Given the description of an element on the screen output the (x, y) to click on. 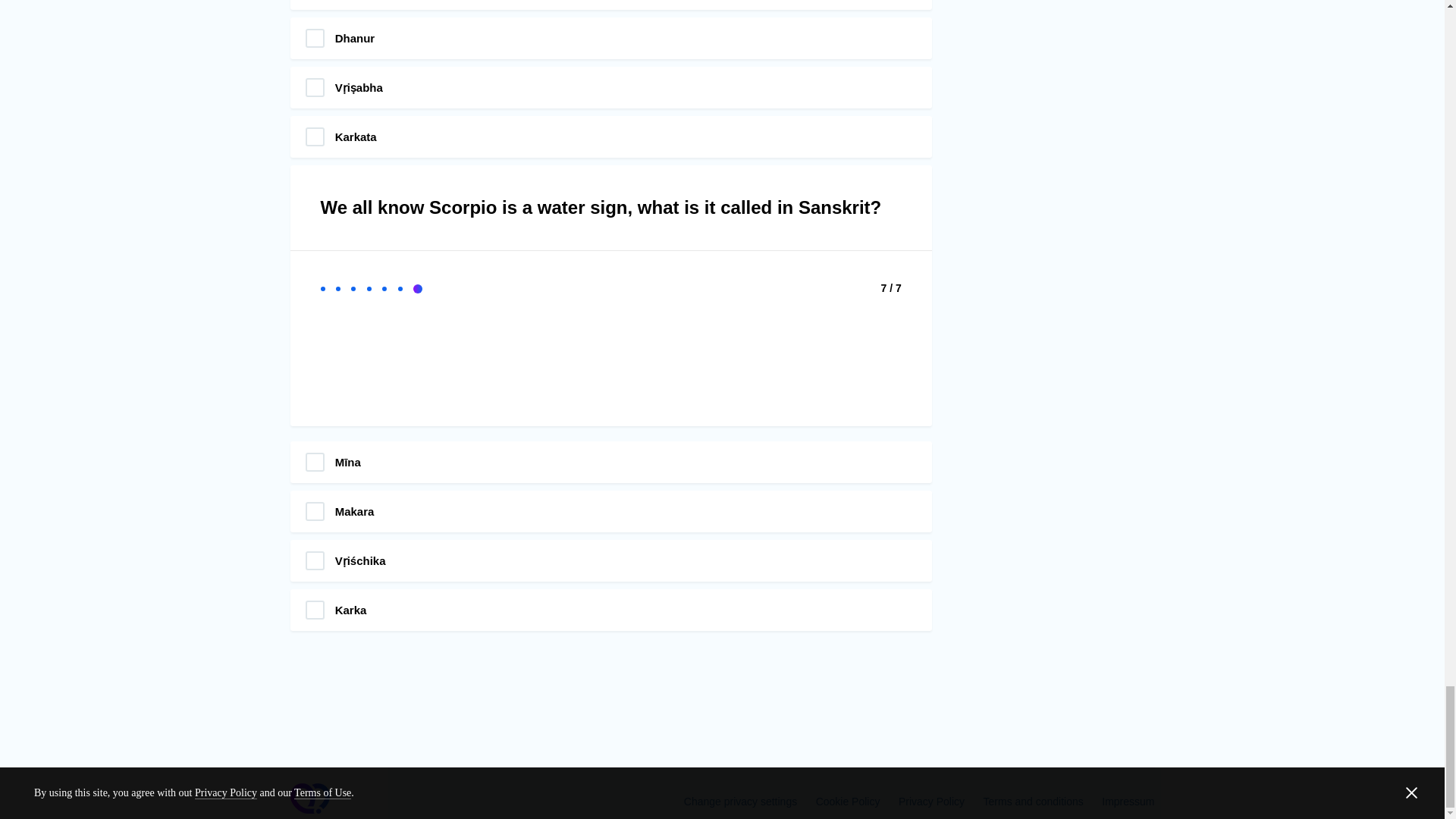
Cookie Policy (847, 801)
Privacy Policy (930, 801)
Change privacy settings (740, 801)
Terms and conditions (1033, 801)
Impressum (1128, 801)
